Given the description of an element on the screen output the (x, y) to click on. 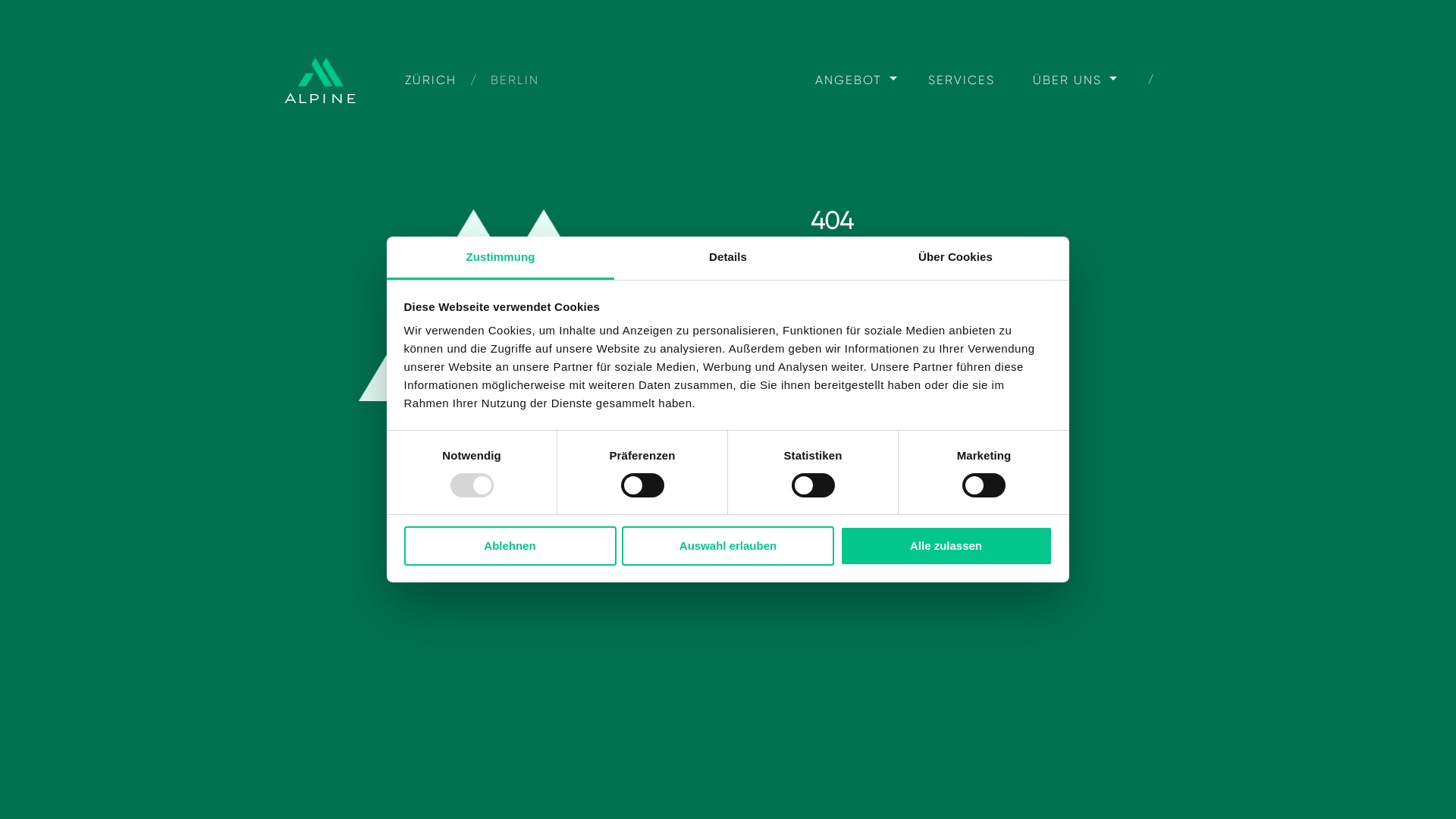
Alle zulassen Element type: text (946, 545)
Details Element type: text (727, 257)
Auswahl erlauben Element type: text (727, 545)
Zustimmung Element type: text (500, 257)
BERLIN Element type: text (514, 87)
ANGEBOT Element type: text (848, 79)
SERVICES Element type: text (961, 87)
Ablehnen Element type: text (509, 545)
